Given the description of an element on the screen output the (x, y) to click on. 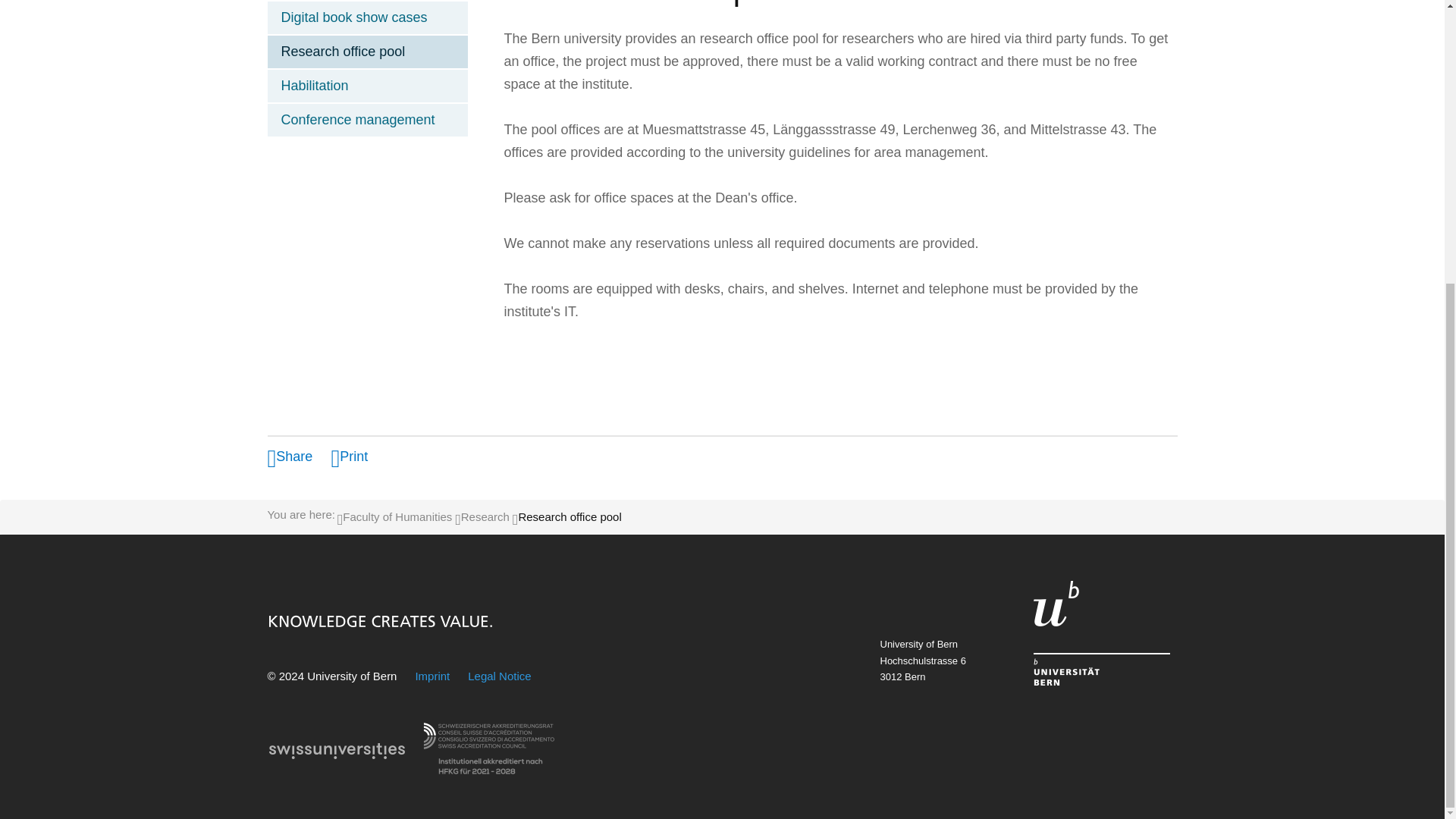
Research office pool (366, 51)
Digital book show cases (366, 17)
Habilitation (366, 85)
Conference management (366, 120)
